Given the description of an element on the screen output the (x, y) to click on. 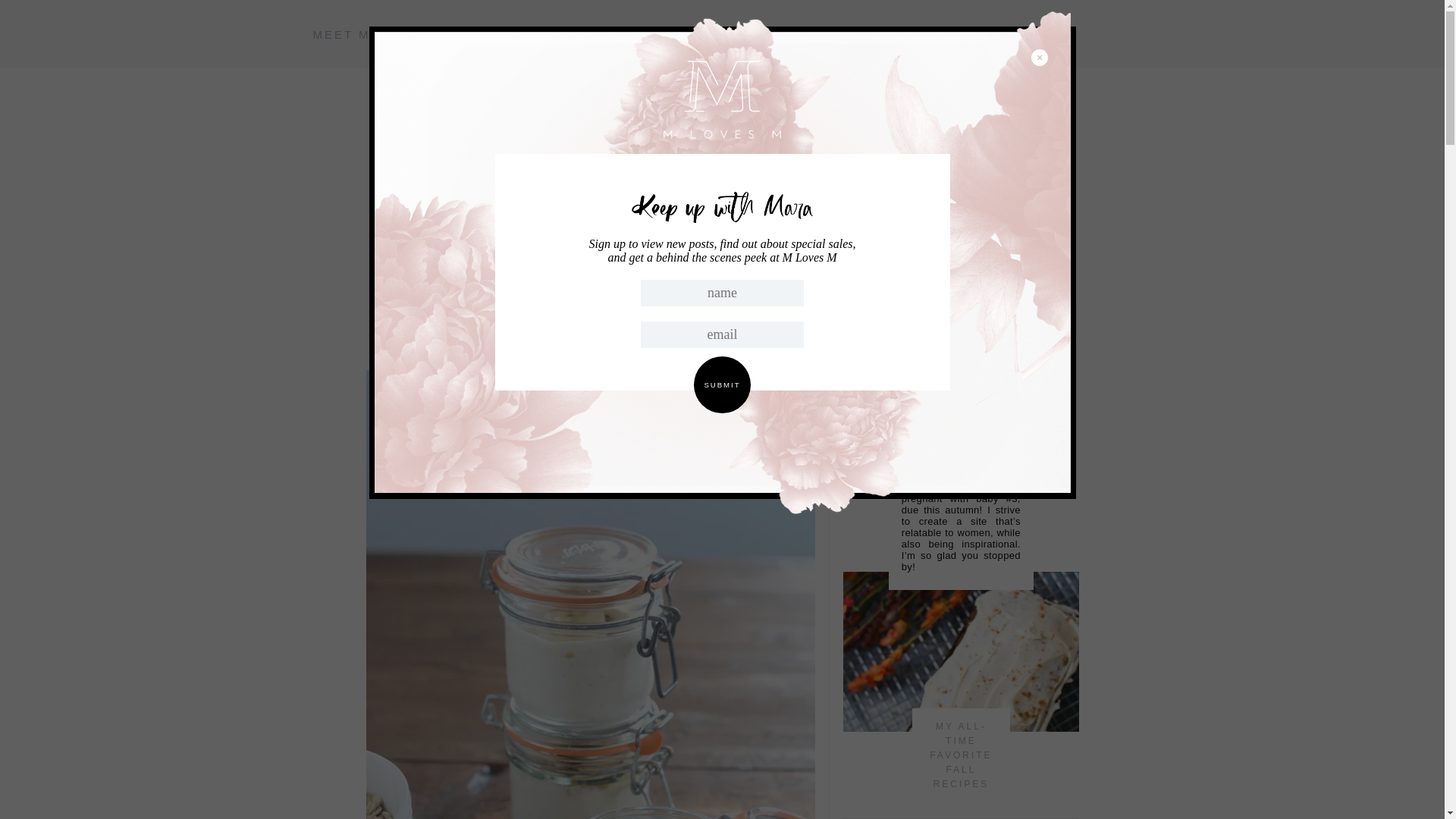
SUBSCRIBE (481, 33)
BEAUTY (709, 33)
Submit (722, 384)
MEET MARA (356, 33)
Permanent Link to Overnight Oats- Three Ways (590, 333)
STYLE (641, 33)
